Given the description of an element on the screen output the (x, y) to click on. 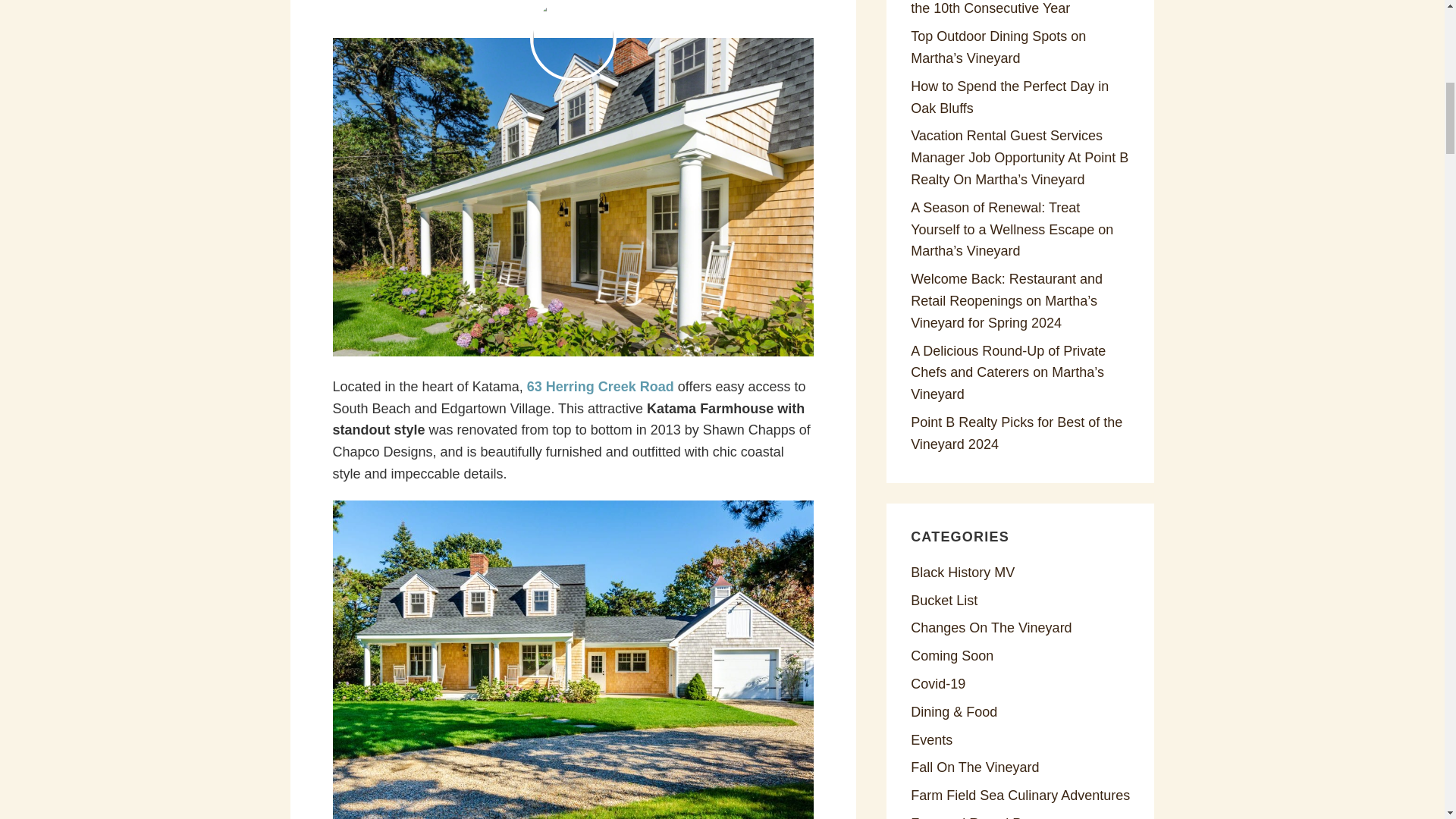
63 Herring Creek Road (600, 386)
